Given the description of an element on the screen output the (x, y) to click on. 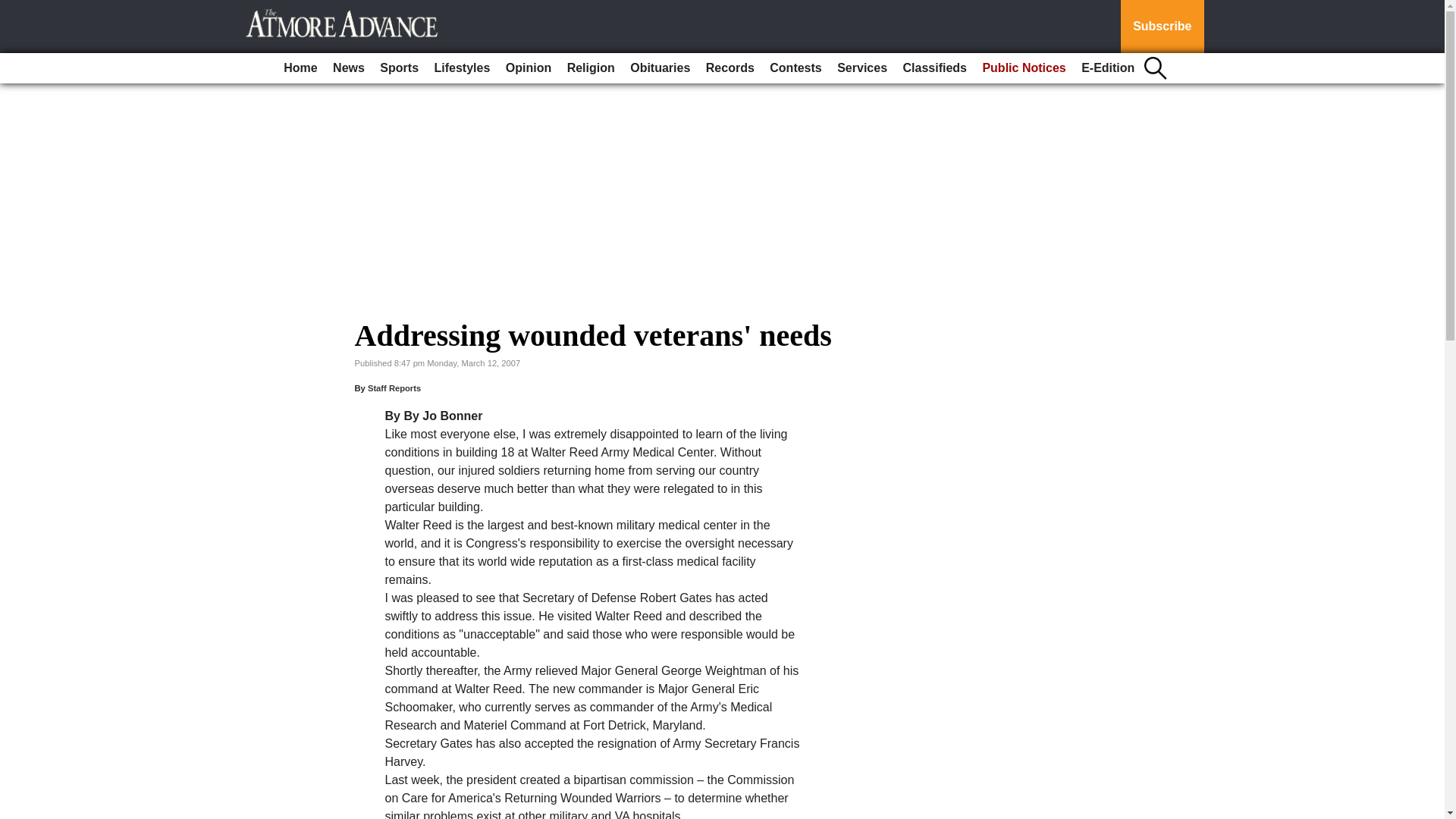
Services (862, 68)
Home (300, 68)
Religion (590, 68)
E-Edition (1107, 68)
Staff Reports (394, 388)
Public Notices (1023, 68)
Obituaries (659, 68)
Records (730, 68)
Go (13, 9)
News (348, 68)
